Given the description of an element on the screen output the (x, y) to click on. 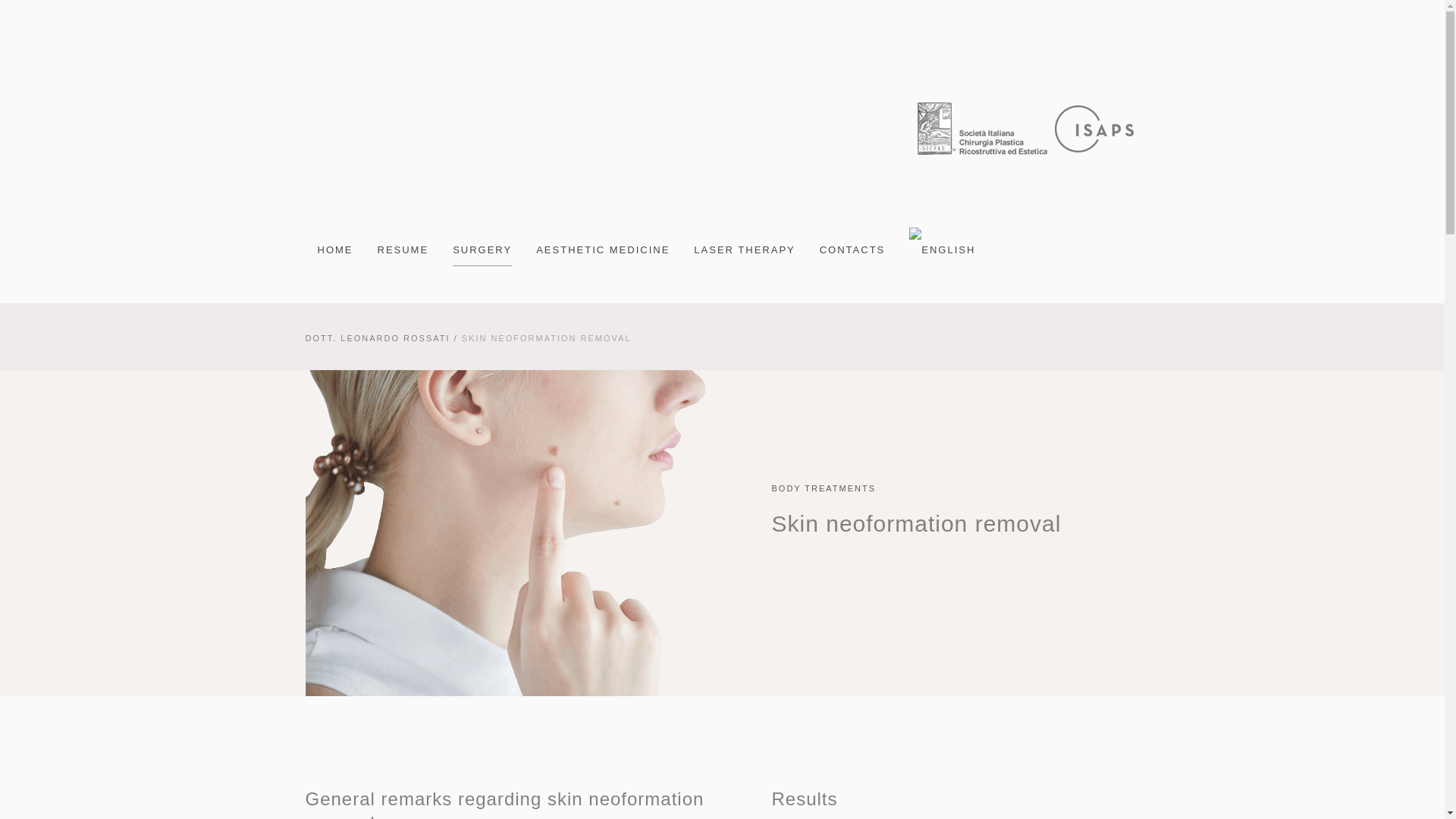
HOME (334, 249)
rossati-neoformazioni-2 (507, 533)
AESTHETIC MEDICINE (602, 249)
RESUME (403, 249)
SURGERY (482, 249)
